Given the description of an element on the screen output the (x, y) to click on. 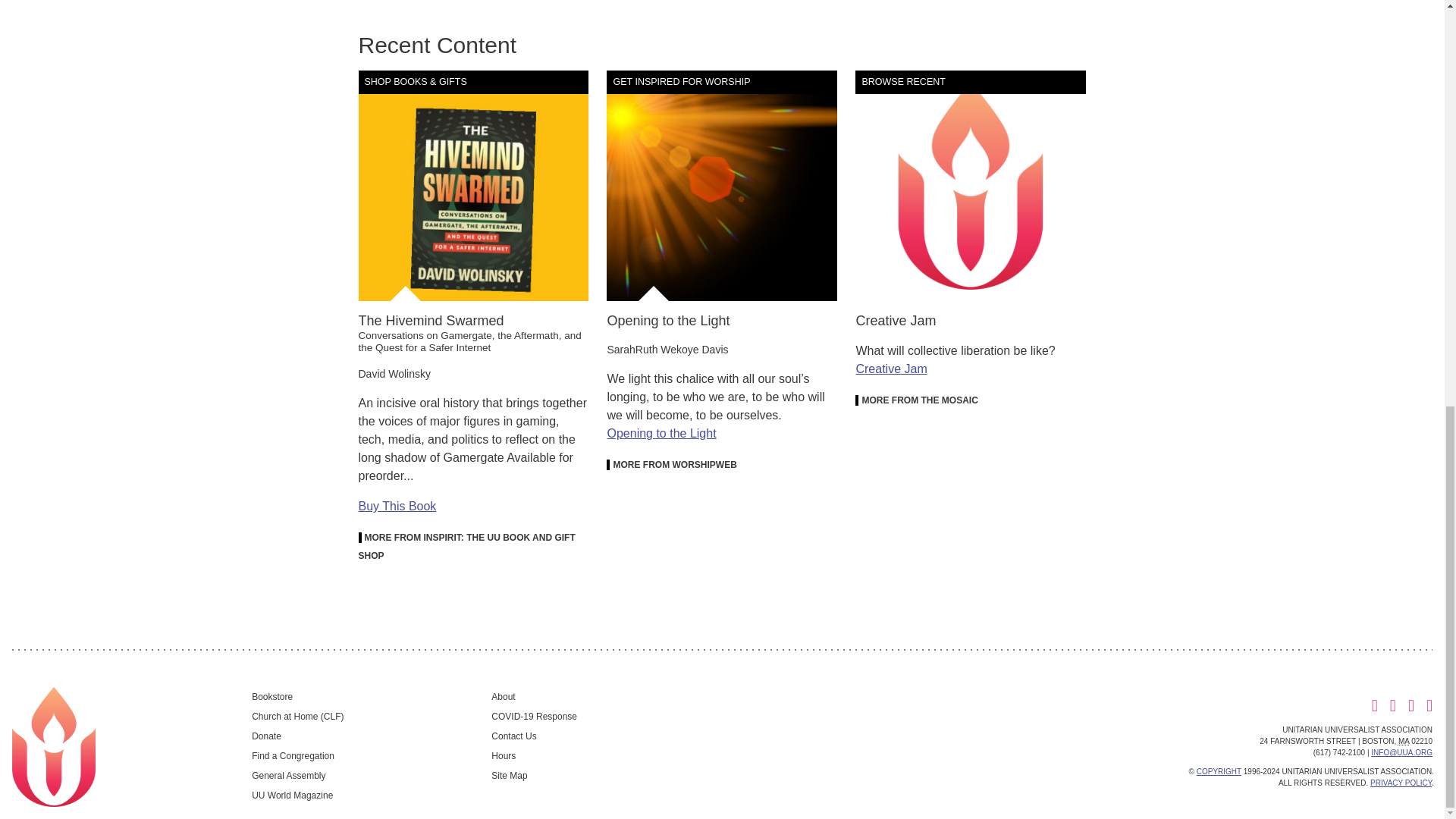
Home (53, 745)
Photo by user kalhh on pixabay.com (722, 185)
Copyright UUA (971, 185)
